Given the description of an element on the screen output the (x, y) to click on. 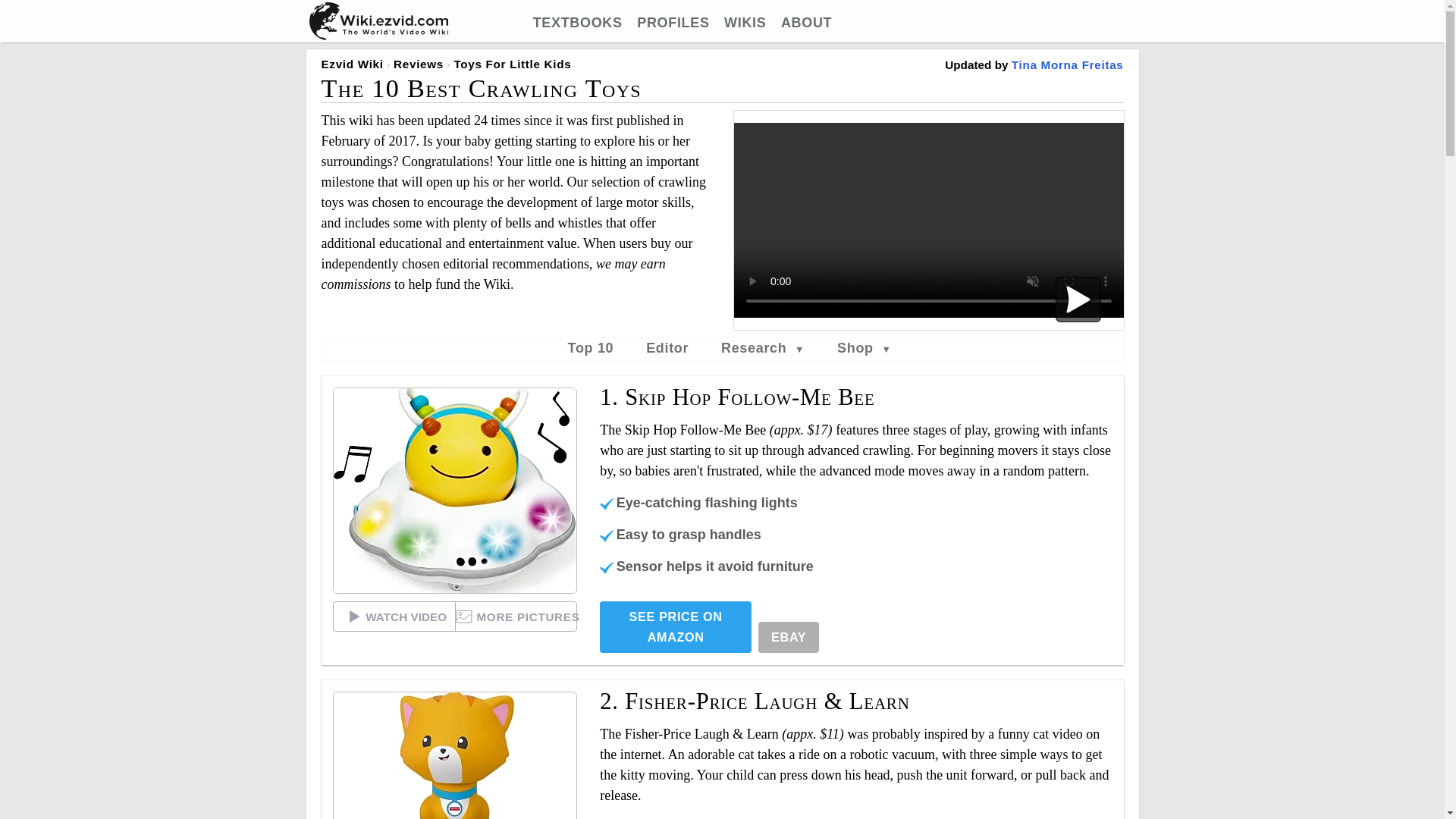
Reviews (418, 63)
Tina Morna Freitas (1067, 64)
Editor (667, 347)
PROFILES (673, 22)
WIKIS (744, 22)
ABOUT (805, 22)
Ezvid Wiki (352, 63)
Toys For Little Kids (511, 63)
TEXTBOOKS (577, 22)
EBAY (788, 636)
Top 10 (590, 347)
MORE PICTURES (515, 615)
SEE PRICE ON AMAZON (675, 626)
